Given the description of an element on the screen output the (x, y) to click on. 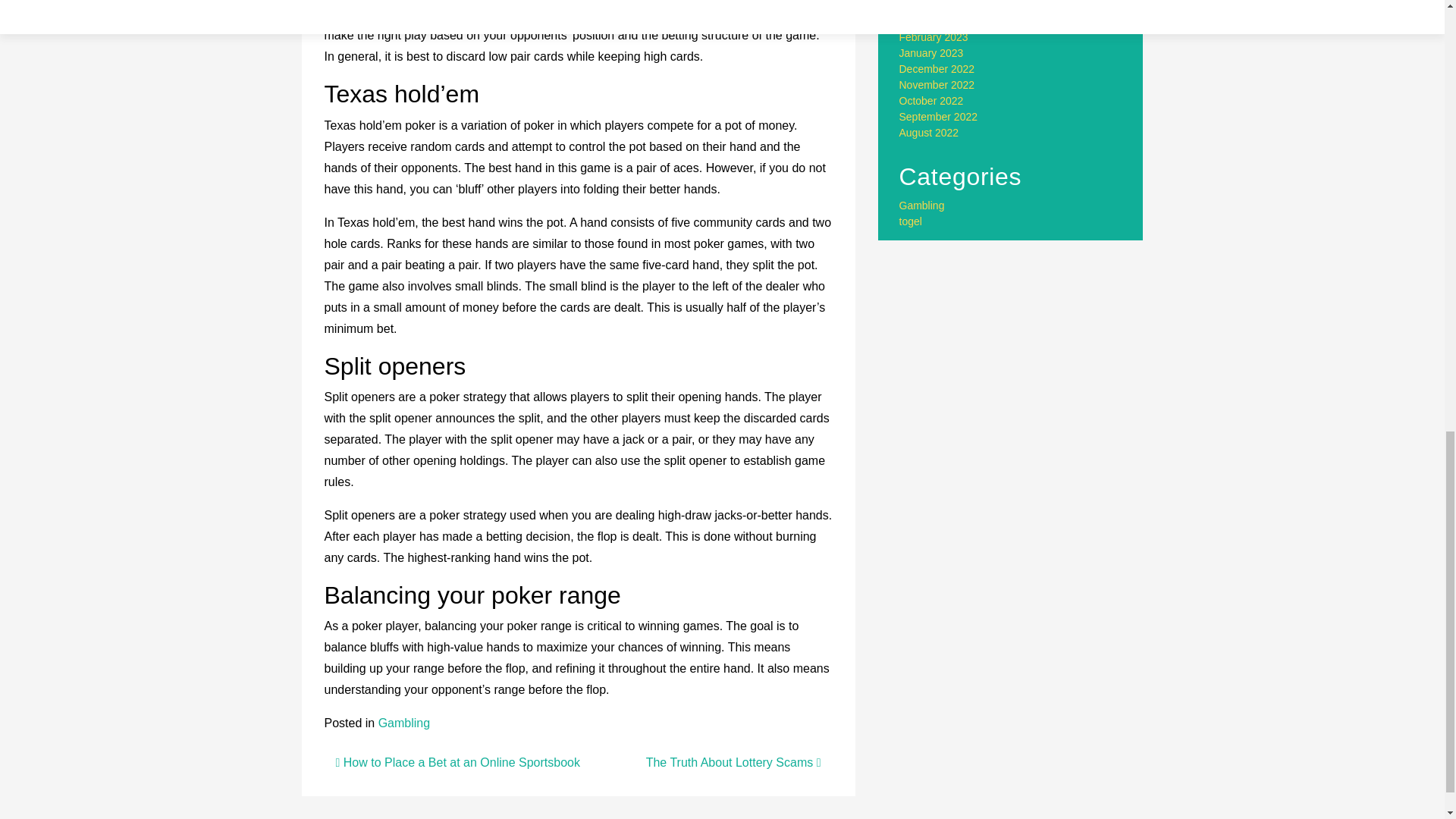
The Truth About Lottery Scams  (733, 762)
March 2023 (927, 21)
Gambling (921, 205)
December 2022 (937, 69)
August 2022 (929, 132)
 How to Place a Bet at an Online Sportsbook (456, 762)
February 2023 (933, 37)
togel (910, 221)
October 2022 (931, 101)
April 2023 (923, 5)
January 2023 (931, 52)
November 2022 (937, 84)
Gambling (403, 722)
September 2022 (938, 116)
